Given the description of an element on the screen output the (x, y) to click on. 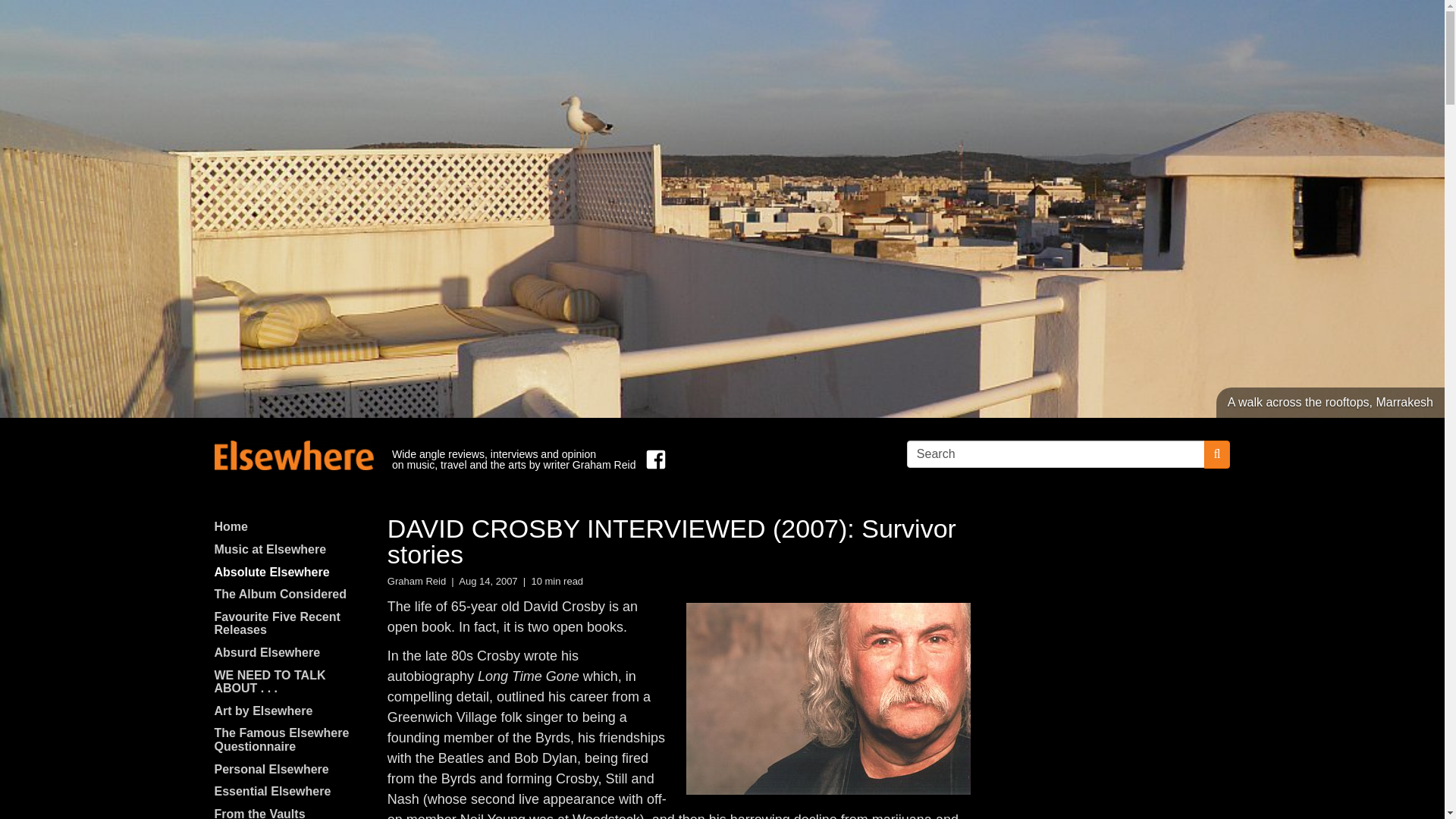
Search (1056, 453)
Elsewhere by Graham Reid (293, 455)
Search (1056, 453)
Find us on Facebook (652, 459)
